Given the description of an element on the screen output the (x, y) to click on. 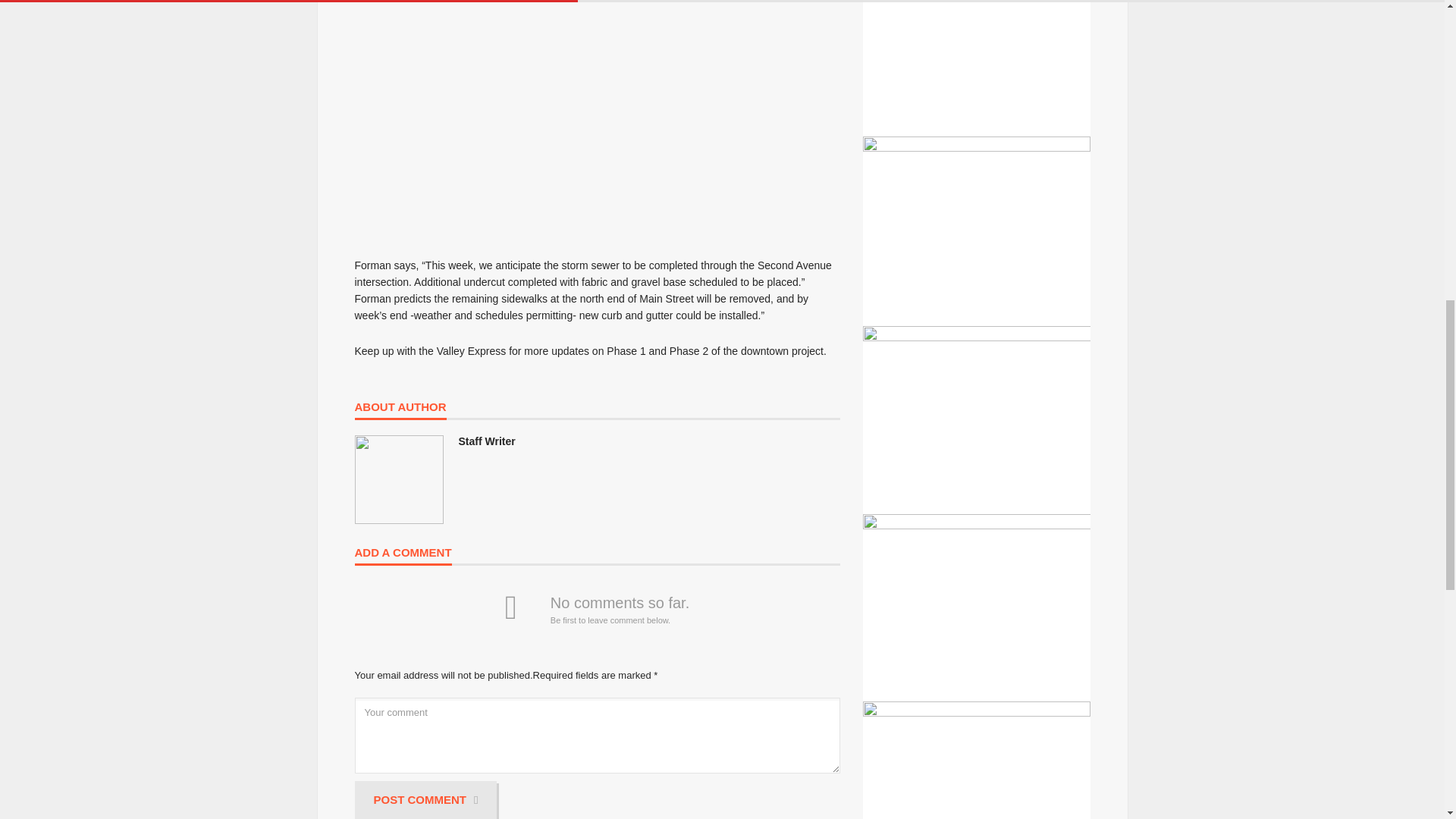
ABOUT AUTHOR (400, 410)
POST COMMENT (426, 800)
ADD A COMMENT (403, 556)
